Given the description of an element on the screen output the (x, y) to click on. 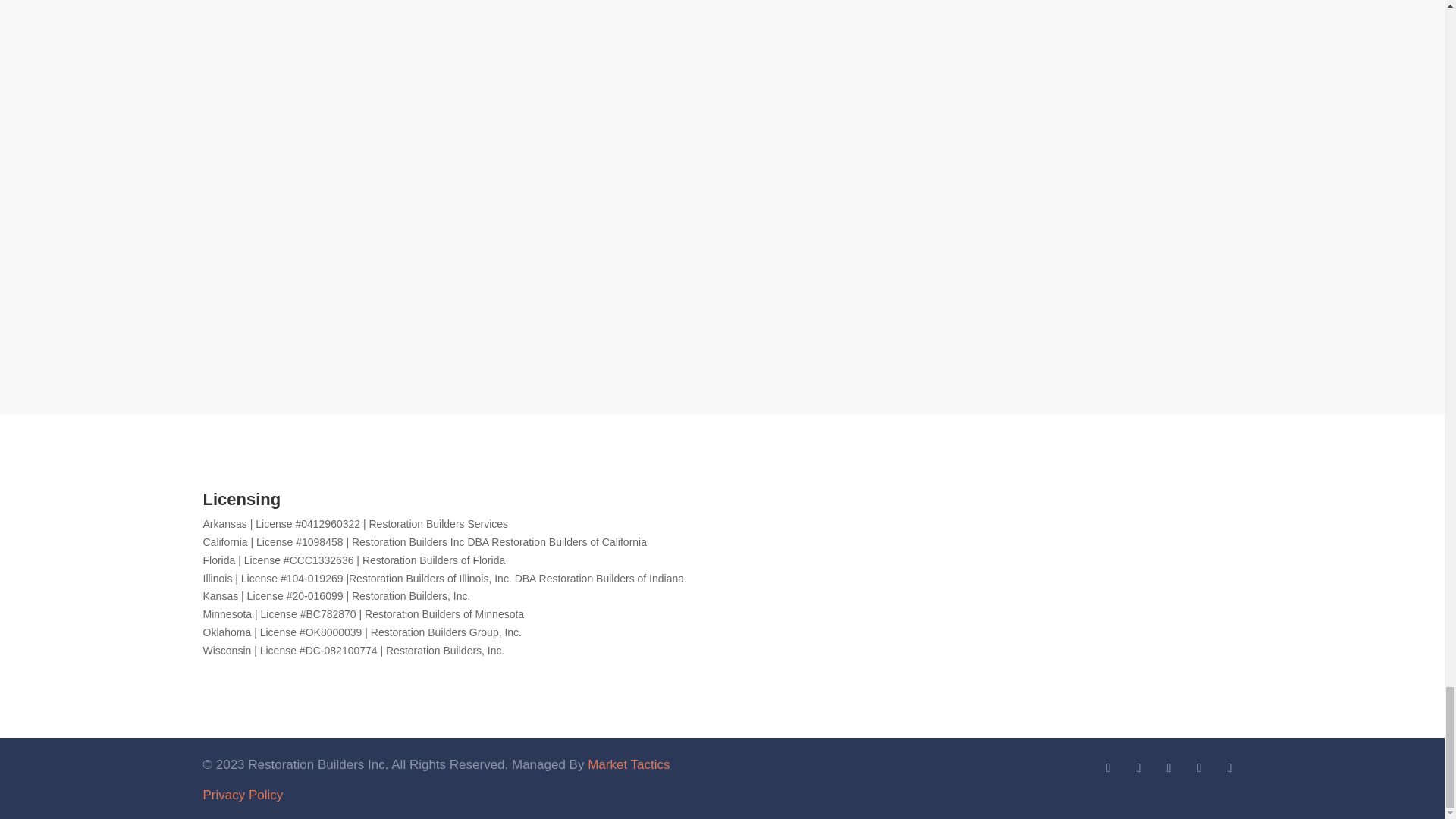
Follow on Youtube (1198, 767)
Follow on LinkedIn (1107, 767)
Follow on Facebook (1168, 767)
Follow on X (1137, 767)
Follow on Instagram (1229, 767)
